Given the description of an element on the screen output the (x, y) to click on. 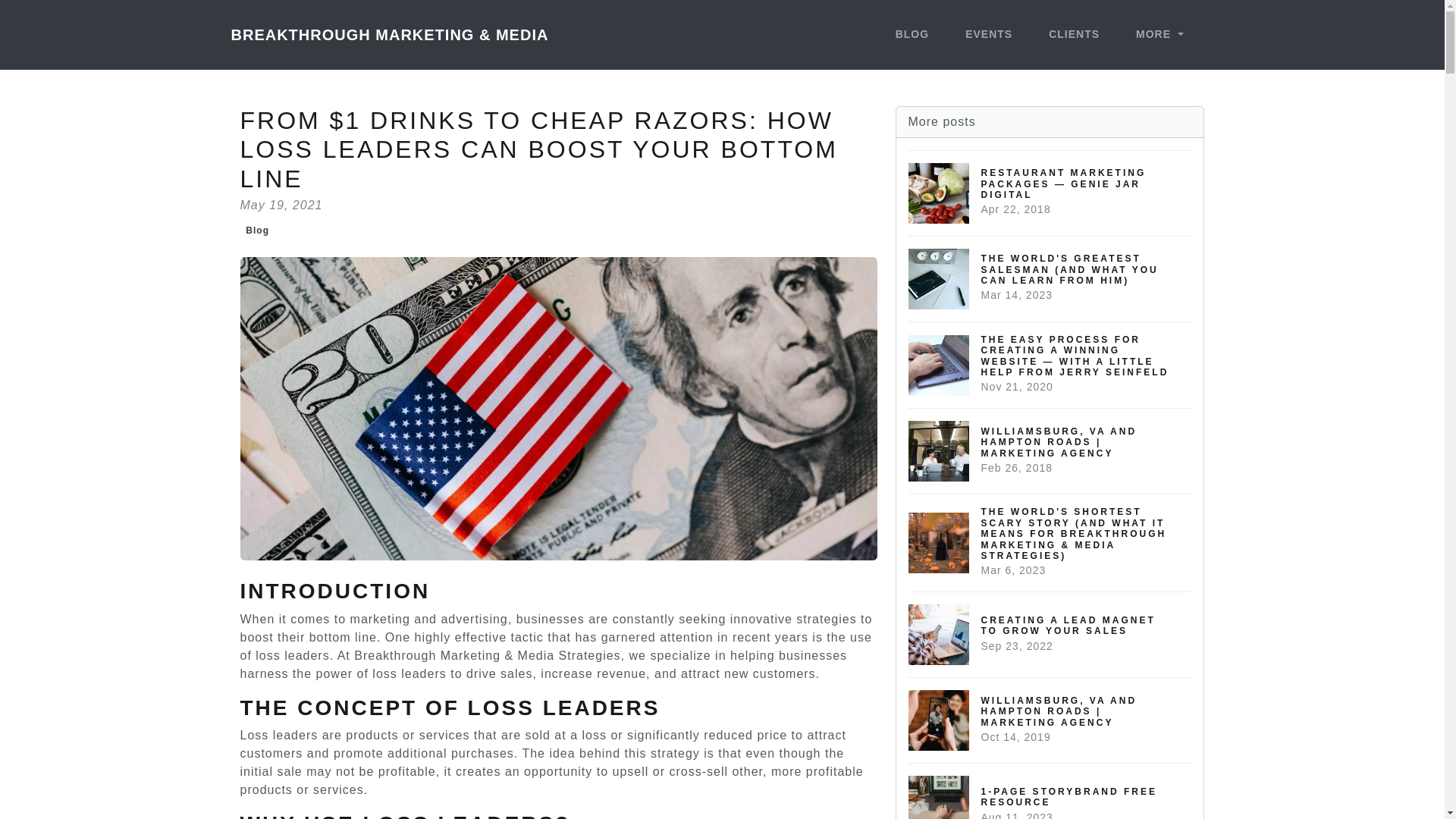
Blog (257, 230)
MORE (1050, 790)
BLOG (1050, 634)
EVENTS (1159, 34)
CLIENTS (911, 34)
